Given the description of an element on the screen output the (x, y) to click on. 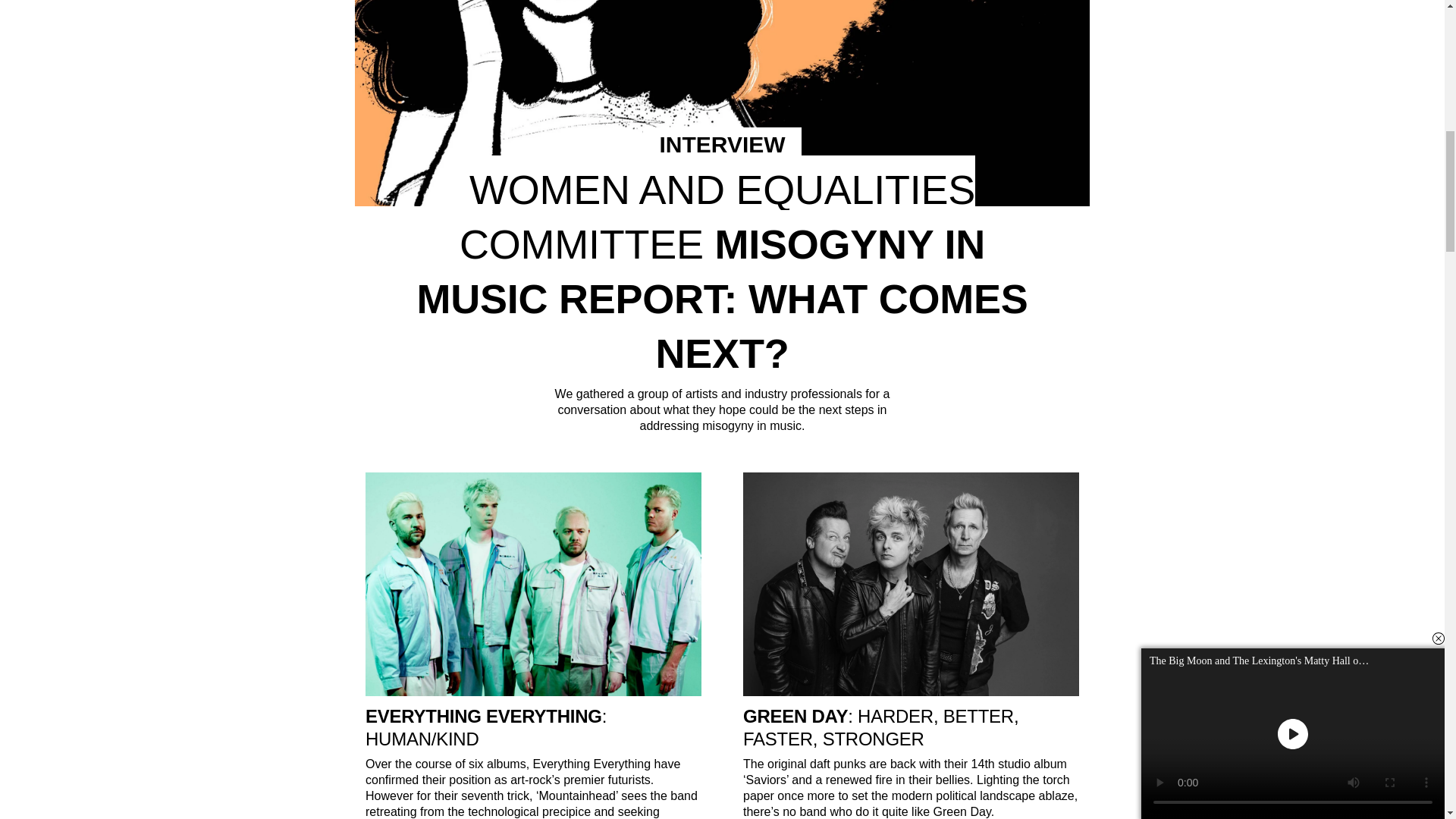
GREEN DAY: HARDER, BETTER, FASTER, STRONGER (910, 728)
INTERVIEW (721, 142)
